Given the description of an element on the screen output the (x, y) to click on. 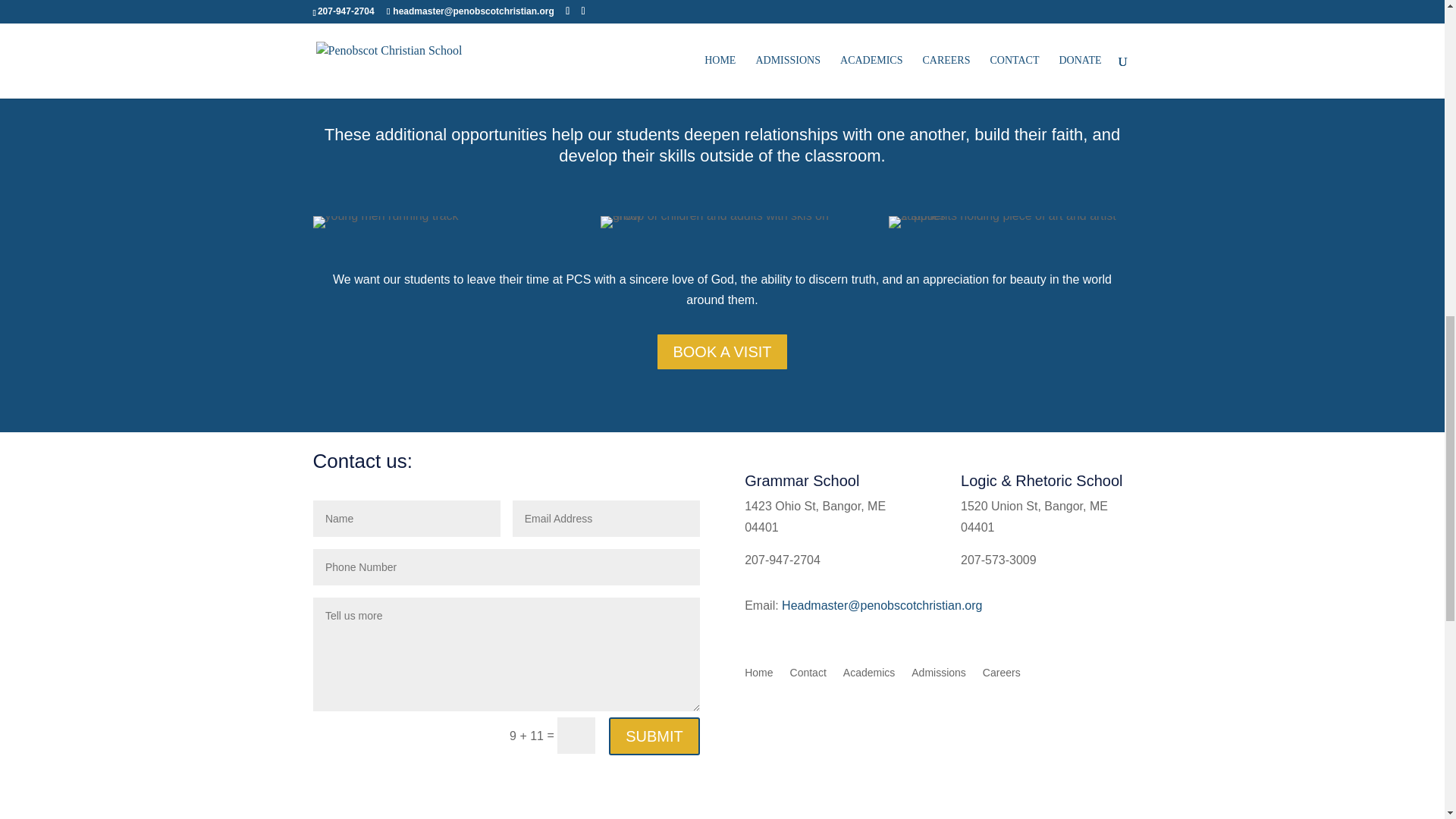
BOOK A VISIT (721, 351)
SUBMIT (654, 736)
Careers (1001, 675)
Academics (869, 675)
Admissions (938, 675)
Contact (808, 675)
Home (758, 675)
